Given the description of an element on the screen output the (x, y) to click on. 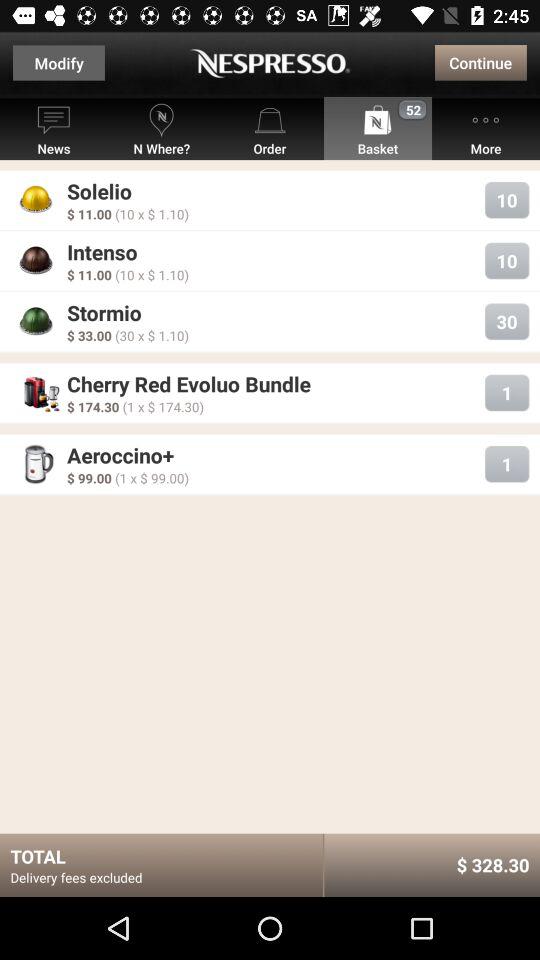
click on the button next to solelio (506, 200)
select the icon which is beside intenso (36, 261)
click the modify button on the web page (58, 62)
click on 10 which is next to intenso (506, 260)
